Given the description of an element on the screen output the (x, y) to click on. 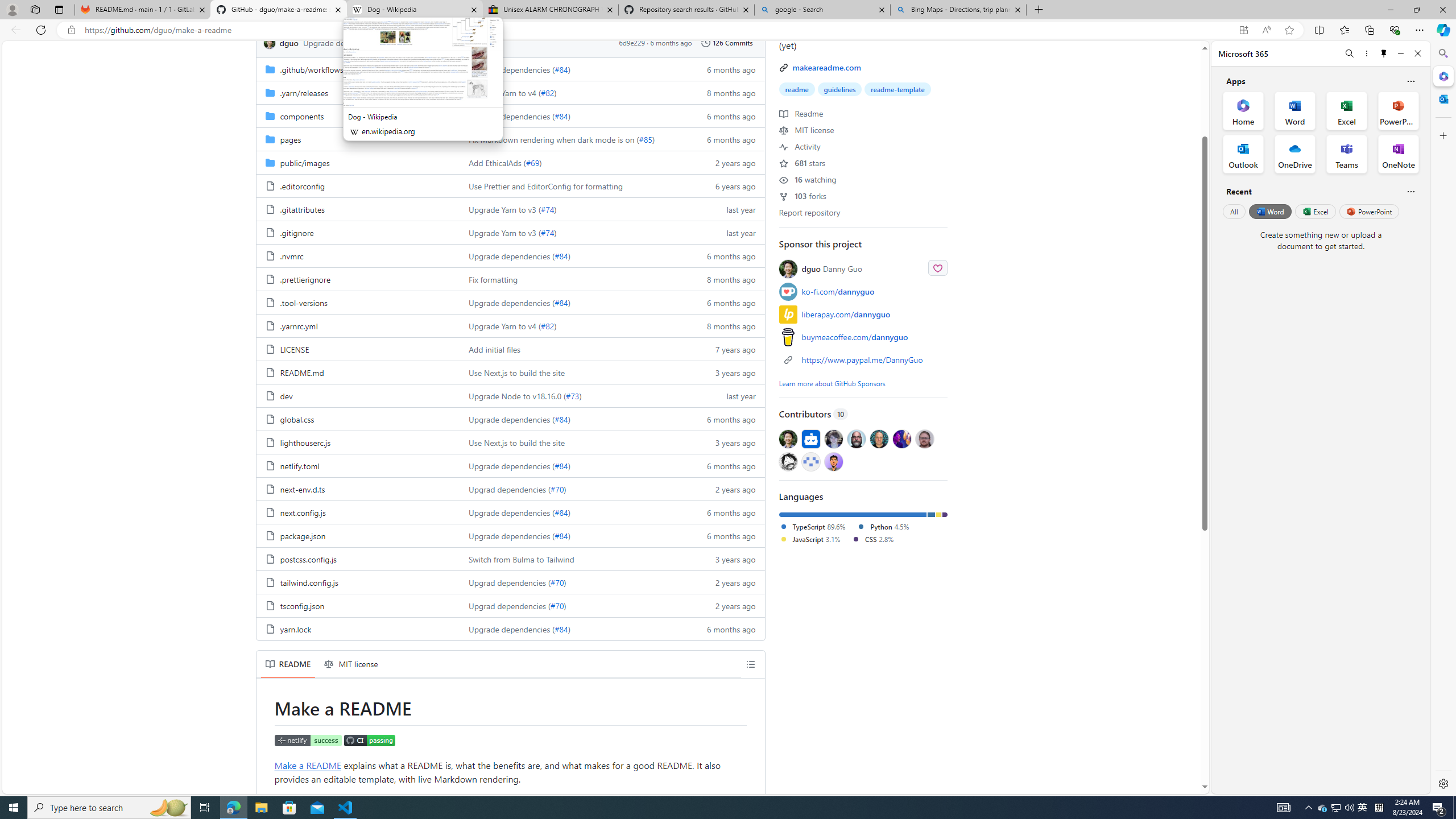
All (1233, 210)
Use Prettier and EditorConfig for formatting (573, 185)
Upgrade dependencies ( (511, 628)
AutomationID: folder-row-0 (510, 69)
buymeacoffee.com/dannyguo (862, 336)
#82 (547, 325)
 Readme (801, 112)
AutomationID: folder-row-5 (510, 185)
dguo Danny Guo (862, 268)
#69 (532, 162)
Settings (1442, 783)
Upgrad dependencies (#70) (573, 604)
.tool-versions, (File) (303, 301)
.yarn/releases, (Directory) (358, 92)
Minimize (1401, 53)
